Given the description of an element on the screen output the (x, y) to click on. 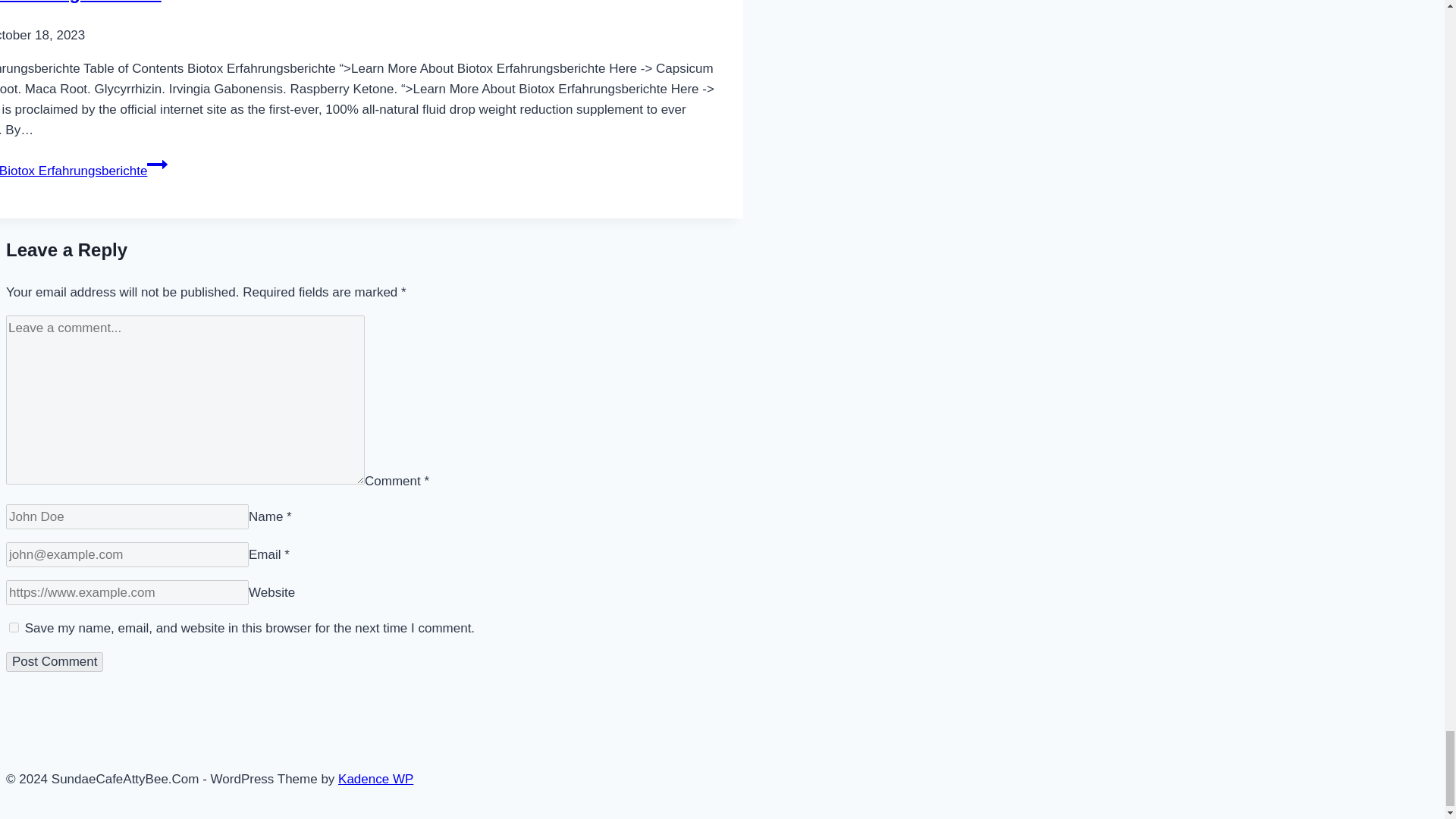
yes (13, 627)
Continue (157, 164)
Post Comment (54, 661)
